Given the description of an element on the screen output the (x, y) to click on. 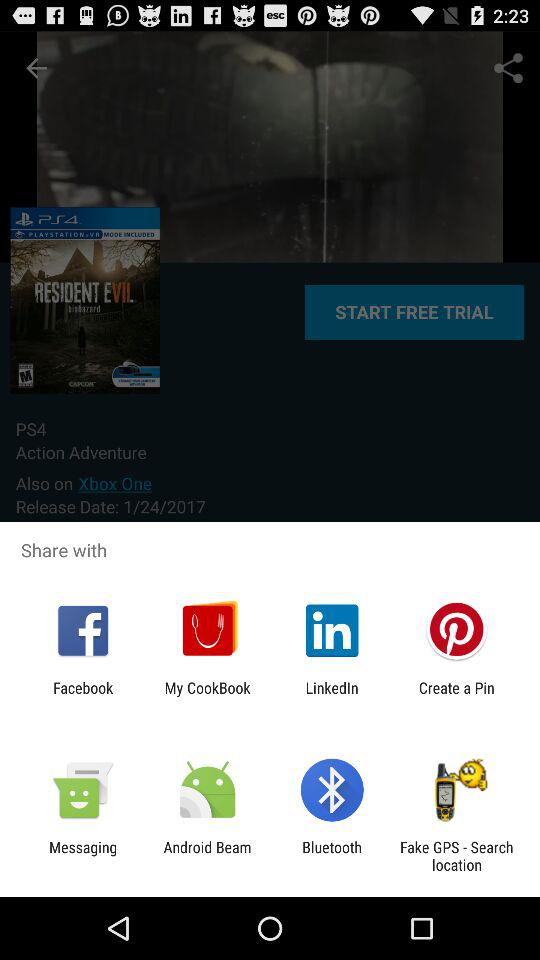
swipe to the create a pin app (456, 696)
